Given the description of an element on the screen output the (x, y) to click on. 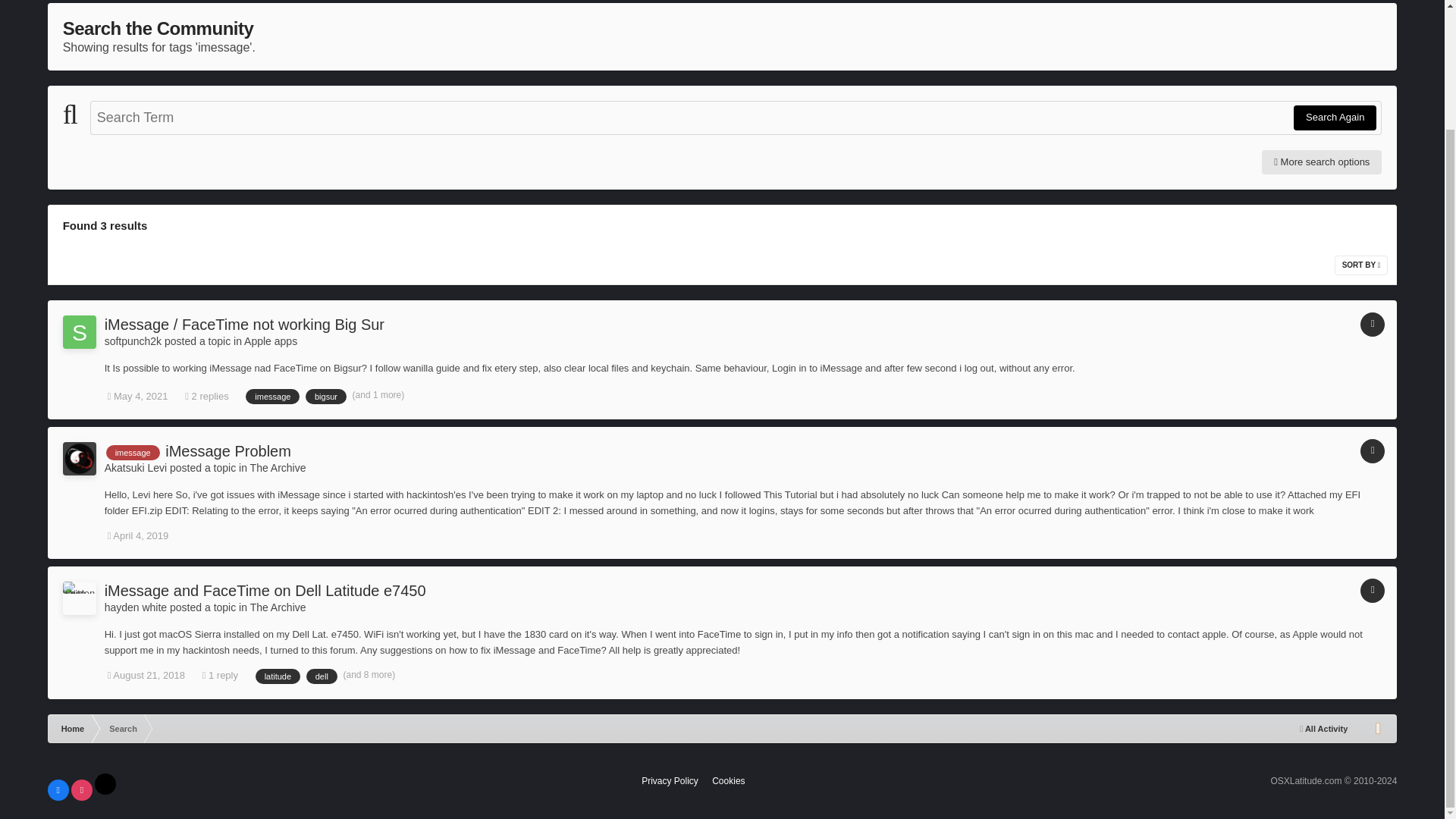
Find other content tagged with 'imessage' (272, 396)
Topic (1371, 324)
Go to Akatsuki Levi's profile (135, 467)
Go to softpunch2k's profile (132, 340)
Topic (1371, 450)
Go to Akatsuki Levi's profile (79, 458)
Find other content tagged with 'bigsur' (325, 396)
Go to softpunch2k's profile (79, 331)
Find other content tagged with 'imessage' (133, 452)
